Given the description of an element on the screen output the (x, y) to click on. 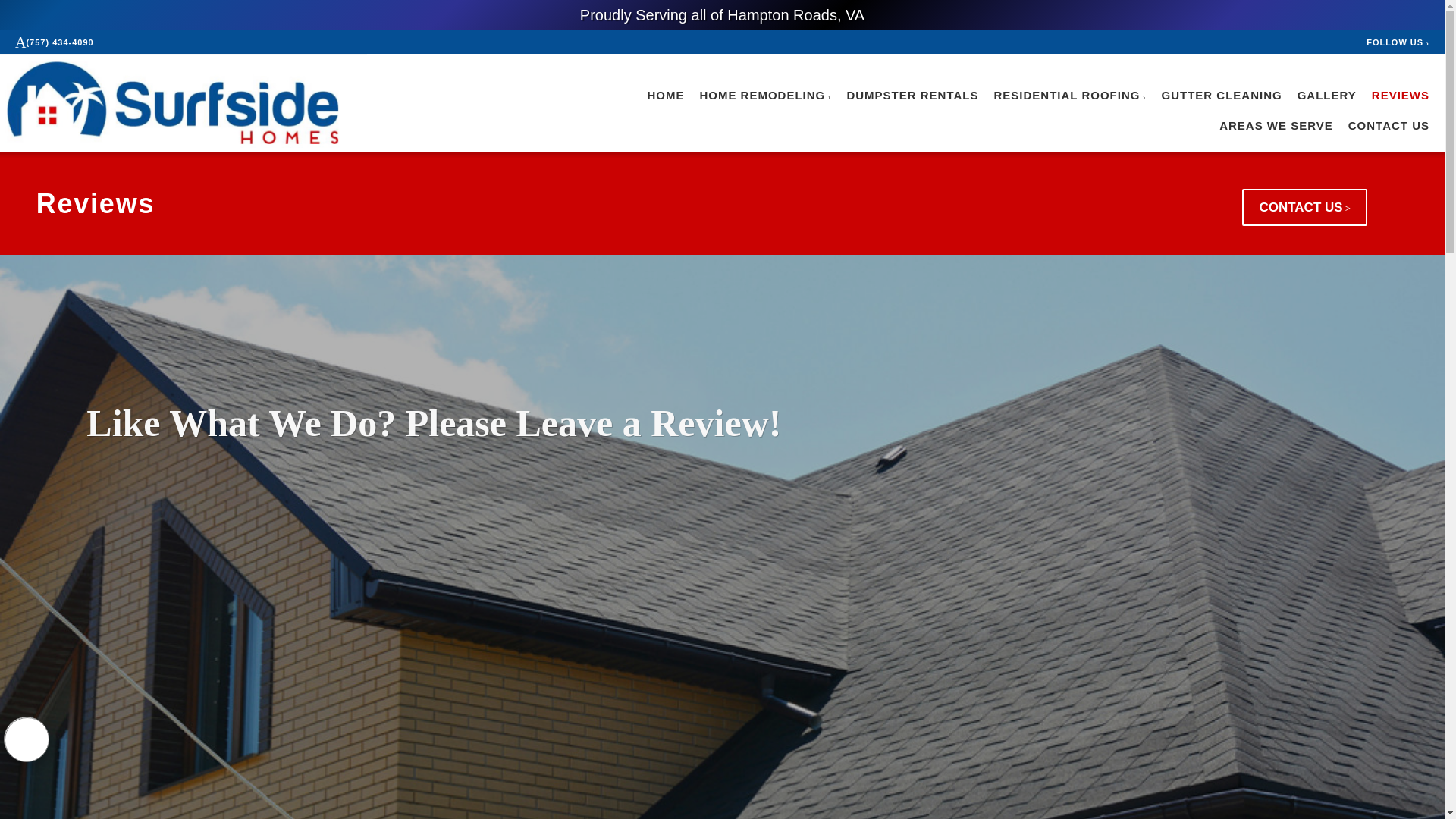
HOME (665, 95)
CONTACT US (1388, 125)
CONTACT US (1304, 207)
GALLERY (1326, 95)
AREAS WE SERVE (1276, 125)
DUMPSTER RENTALS (911, 95)
REVIEWS (1400, 95)
GUTTER CLEANING (1221, 95)
